Given the description of an element on the screen output the (x, y) to click on. 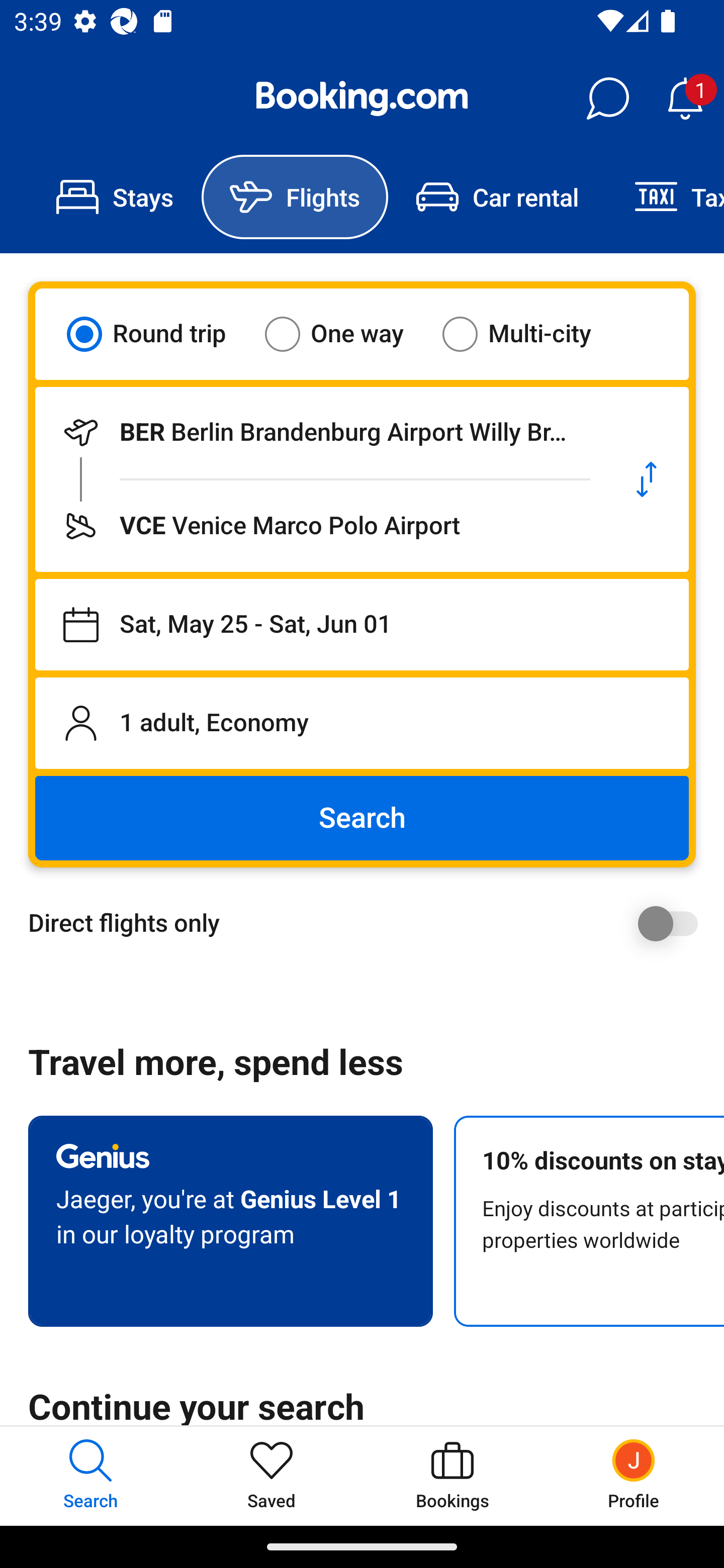
Messages (607, 98)
Notifications (685, 98)
Stays (114, 197)
Flights (294, 197)
Car rental (497, 197)
Taxi (665, 197)
One way (346, 333)
Multi-city (528, 333)
Swap departure location and destination (646, 479)
Flying to VCE Venice Marco Polo Airport (319, 525)
Departing on Sat, May 25, returning on Sat, Jun 01 (361, 624)
1 adult, Economy (361, 722)
Search (361, 818)
Direct flights only (369, 923)
Saved (271, 1475)
Bookings (452, 1475)
Profile (633, 1475)
